Given the description of an element on the screen output the (x, y) to click on. 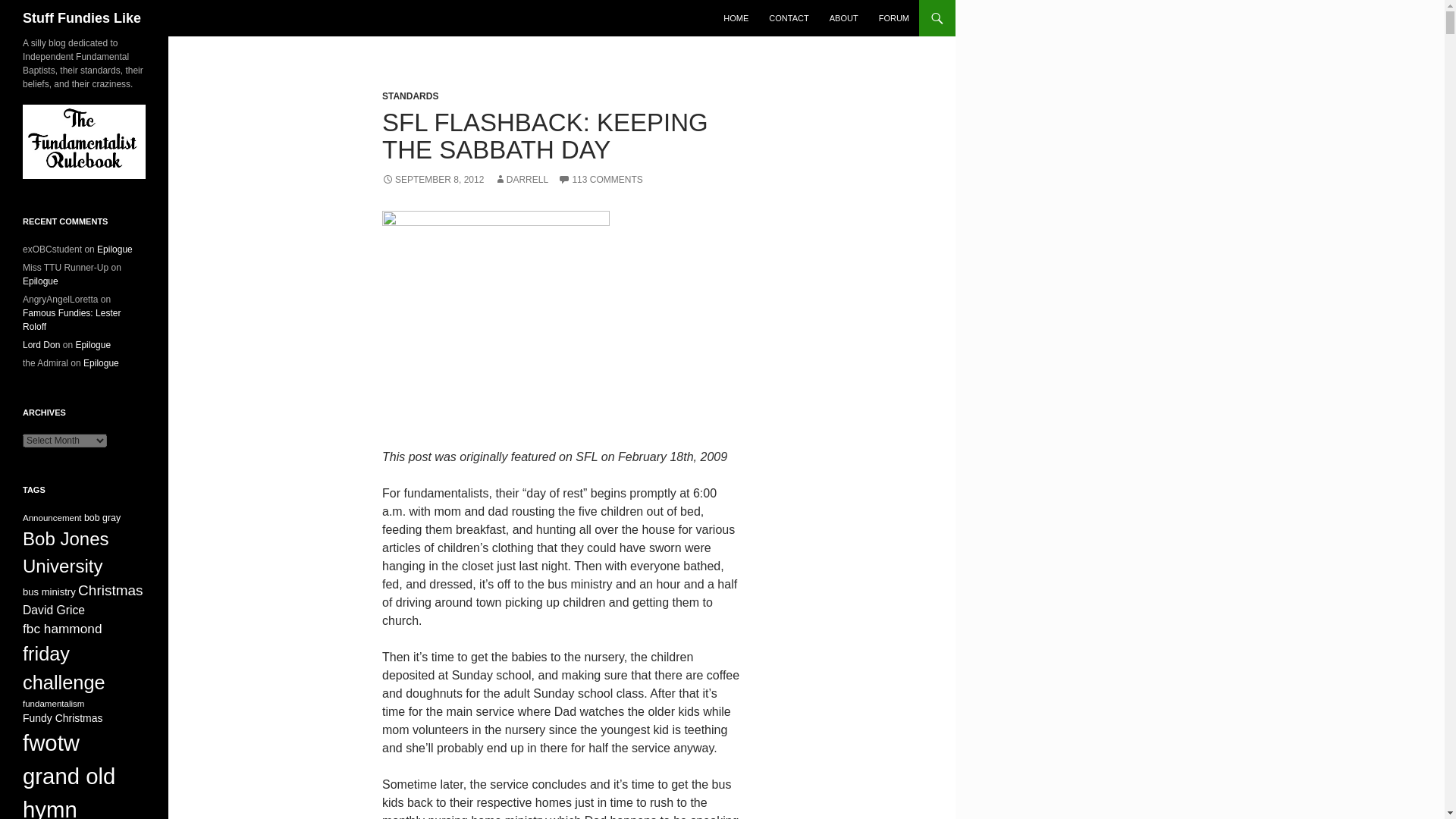
HOME (735, 18)
DARRELL (521, 179)
STANDARDS (409, 95)
SEPTEMBER 8, 2012 (432, 179)
Stuff Fundies Like (82, 18)
ABOUT (844, 18)
FORUM (893, 18)
113 COMMENTS (599, 179)
CONTACT (788, 18)
